Given the description of an element on the screen output the (x, y) to click on. 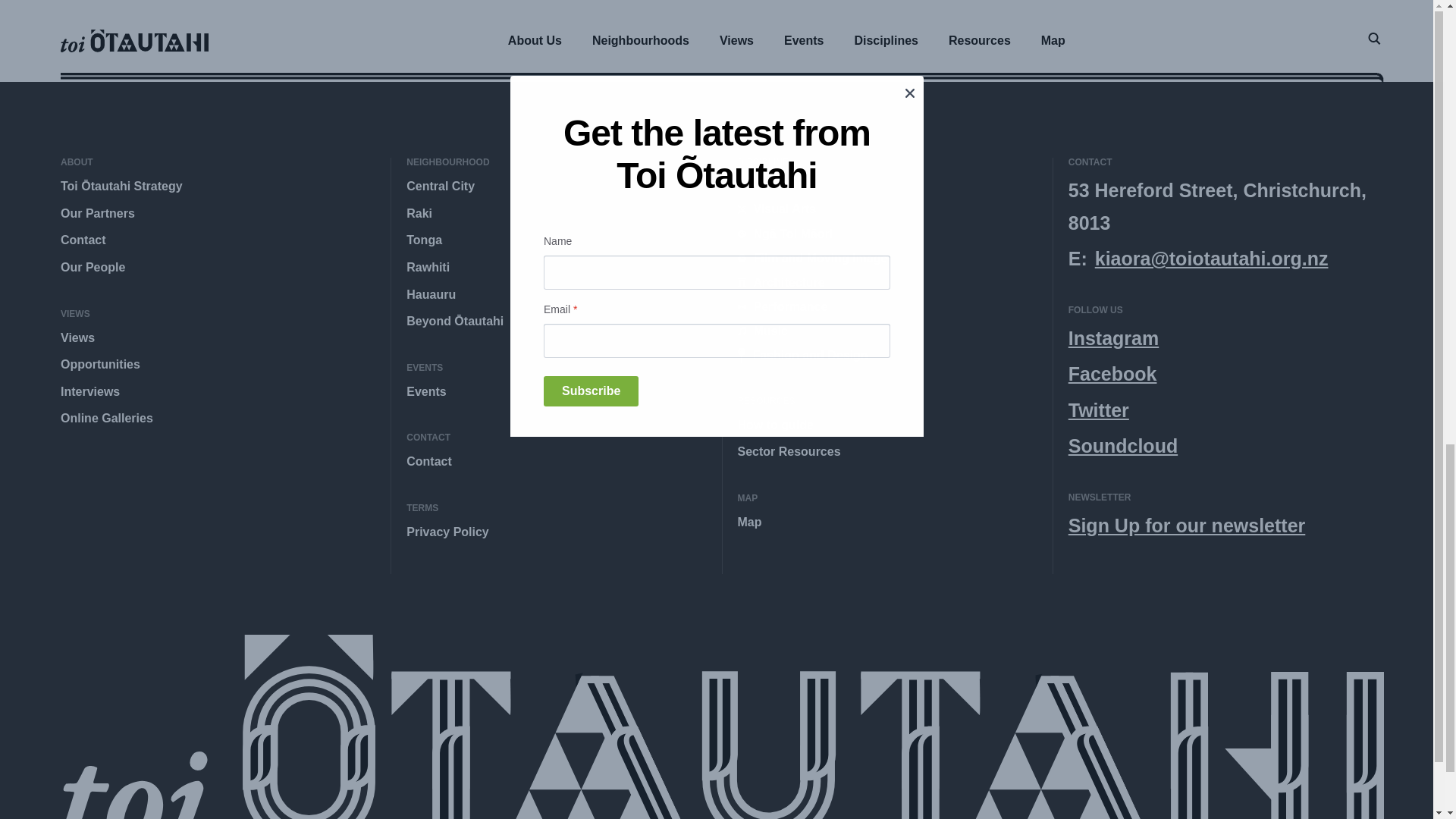
Hauauru (430, 294)
Architecture (780, 281)
Our Partners (98, 213)
Performance (781, 306)
Visual Arts (775, 209)
Tonga (424, 239)
Views (77, 337)
Interviews (90, 391)
Events (425, 391)
Our People (93, 267)
